Given the description of an element on the screen output the (x, y) to click on. 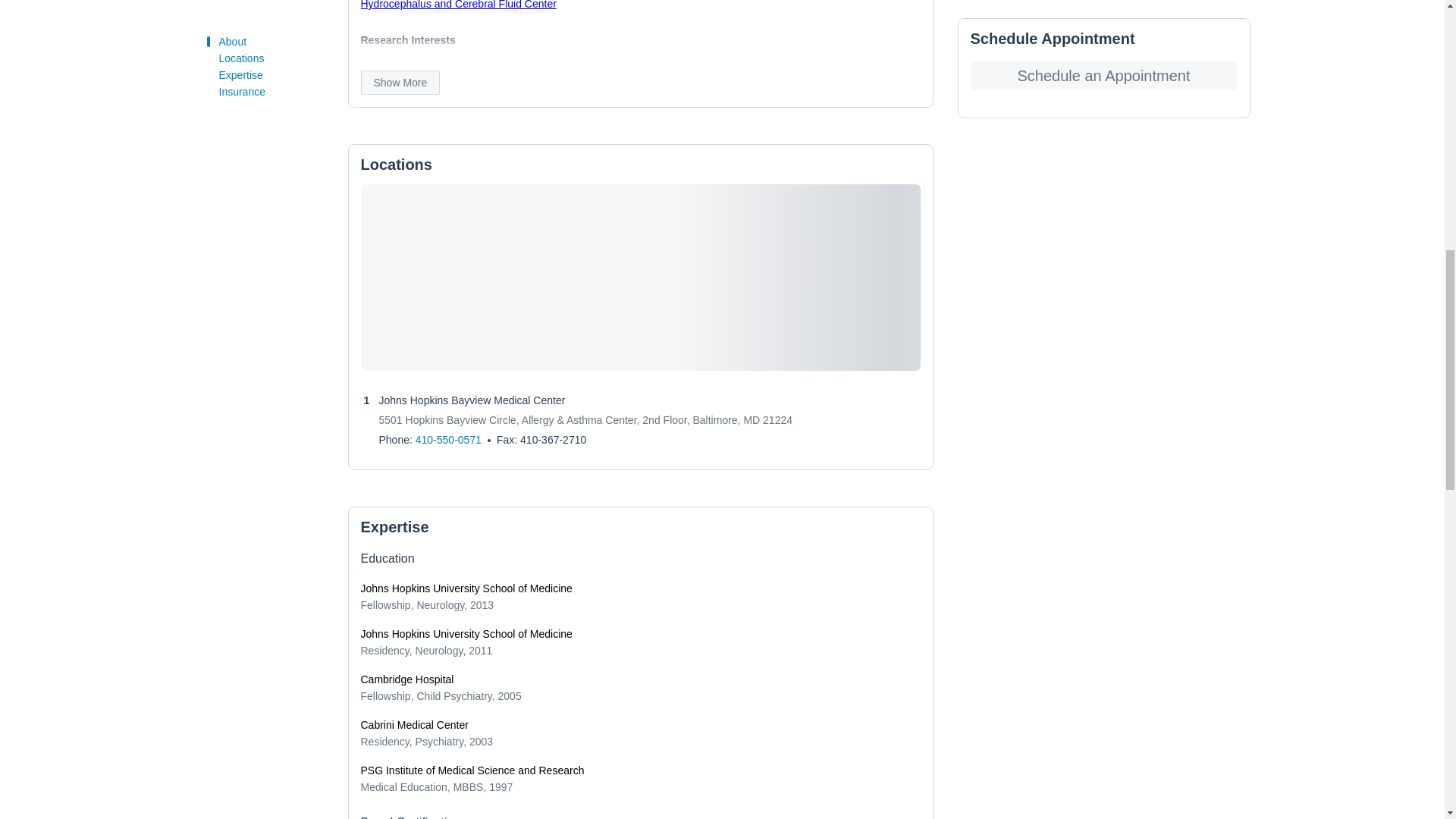
410-550-0571 (447, 439)
Show More (401, 82)
Hydrocephalus and Cerebral Fluid Center (458, 4)
